Given the description of an element on the screen output the (x, y) to click on. 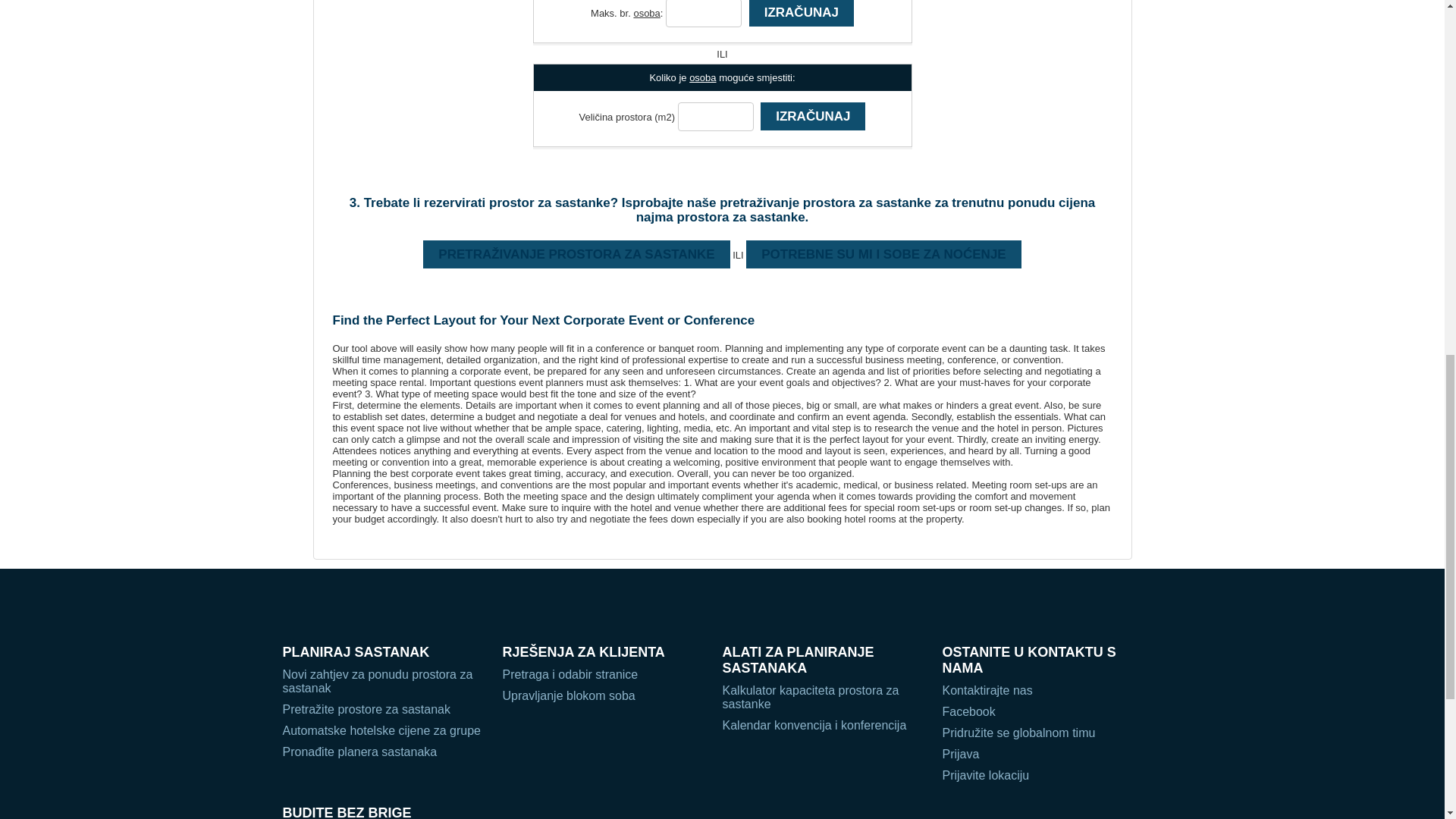
Kalendar konvencija i konferencija (824, 725)
Kontaktirajte nas (1044, 690)
Automatske hotelske cijene za grupe (384, 730)
Kalkulator kapaciteta prostora za sastanke (824, 697)
Facebook (1044, 712)
Pretraga i odabir stranice (604, 674)
Novi zahtjev za ponudu prostora za sastanak (384, 681)
Upravljanje blokom soba (604, 695)
Prijava (1044, 754)
Prijavite lokaciju (1044, 775)
